Given the description of an element on the screen output the (x, y) to click on. 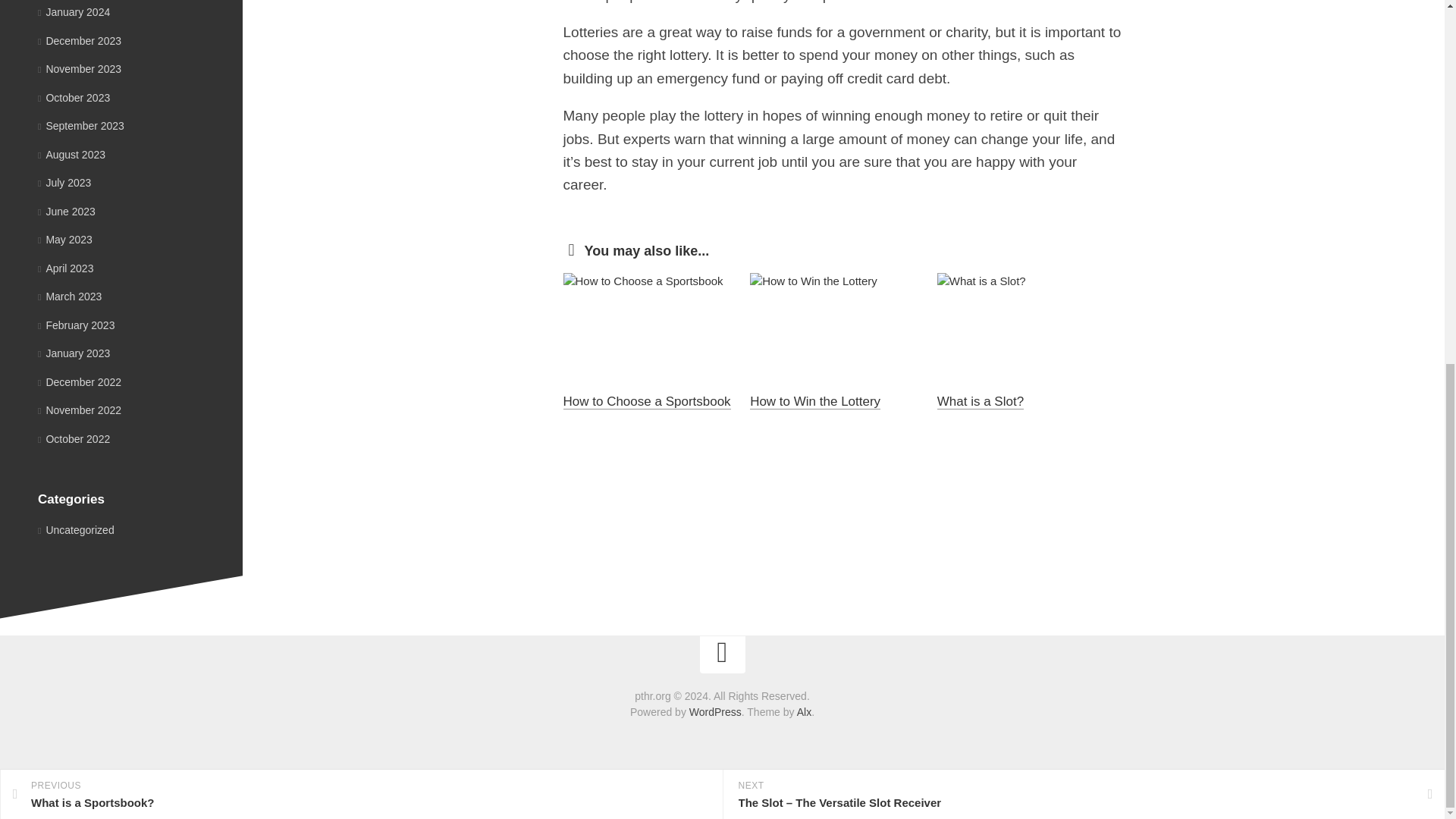
January 2023 (73, 353)
May 2023 (65, 239)
August 2023 (70, 154)
July 2023 (63, 182)
December 2022 (78, 381)
June 2023 (66, 210)
November 2023 (78, 69)
March 2023 (69, 296)
November 2022 (78, 410)
How to Win the Lottery (814, 400)
October 2022 (73, 438)
December 2023 (78, 40)
How to Choose a Sportsbook (646, 400)
April 2023 (65, 268)
September 2023 (80, 125)
